Given the description of an element on the screen output the (x, y) to click on. 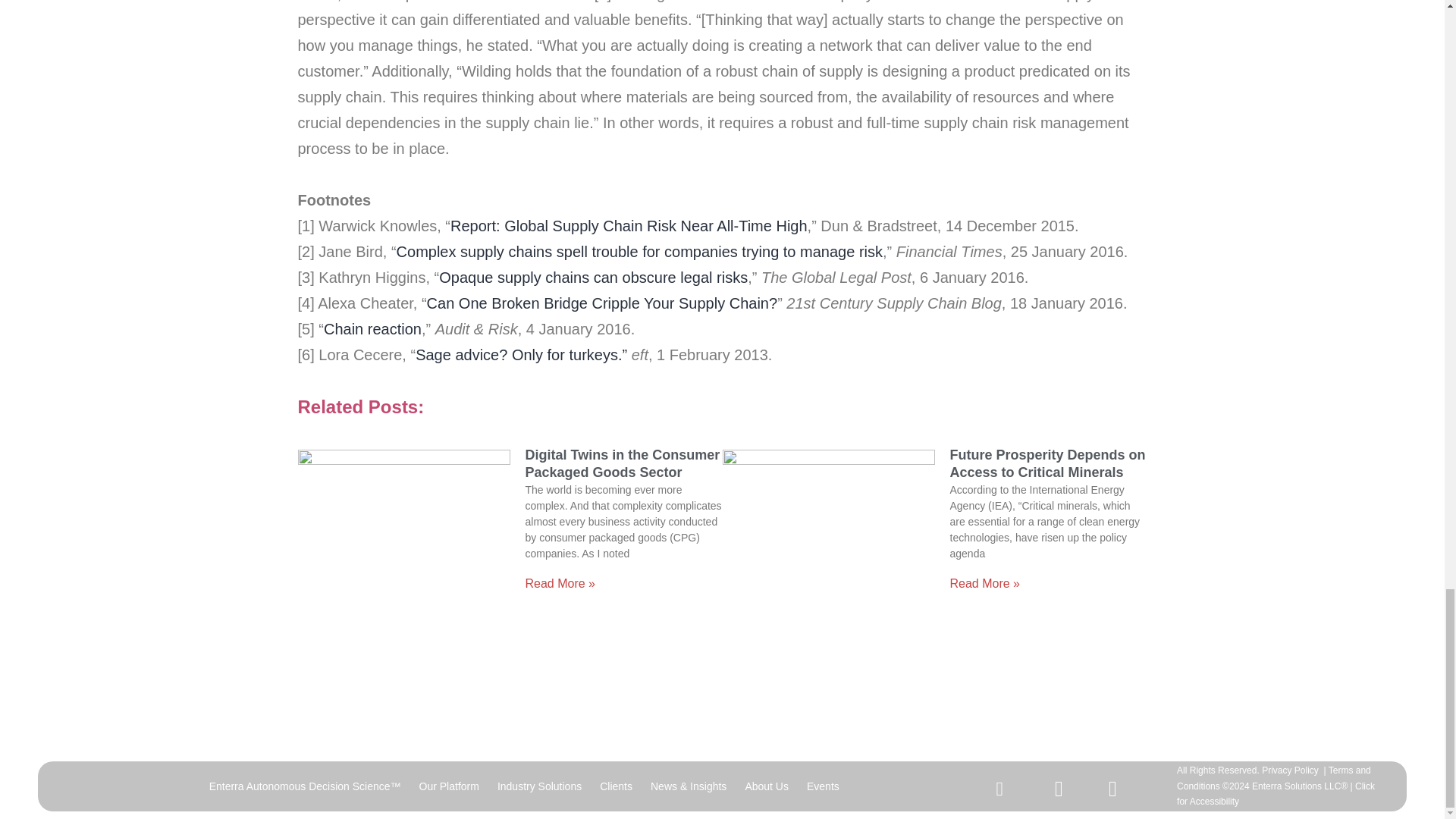
Sage advice? Only for turkeys. (520, 354)
